Given the description of an element on the screen output the (x, y) to click on. 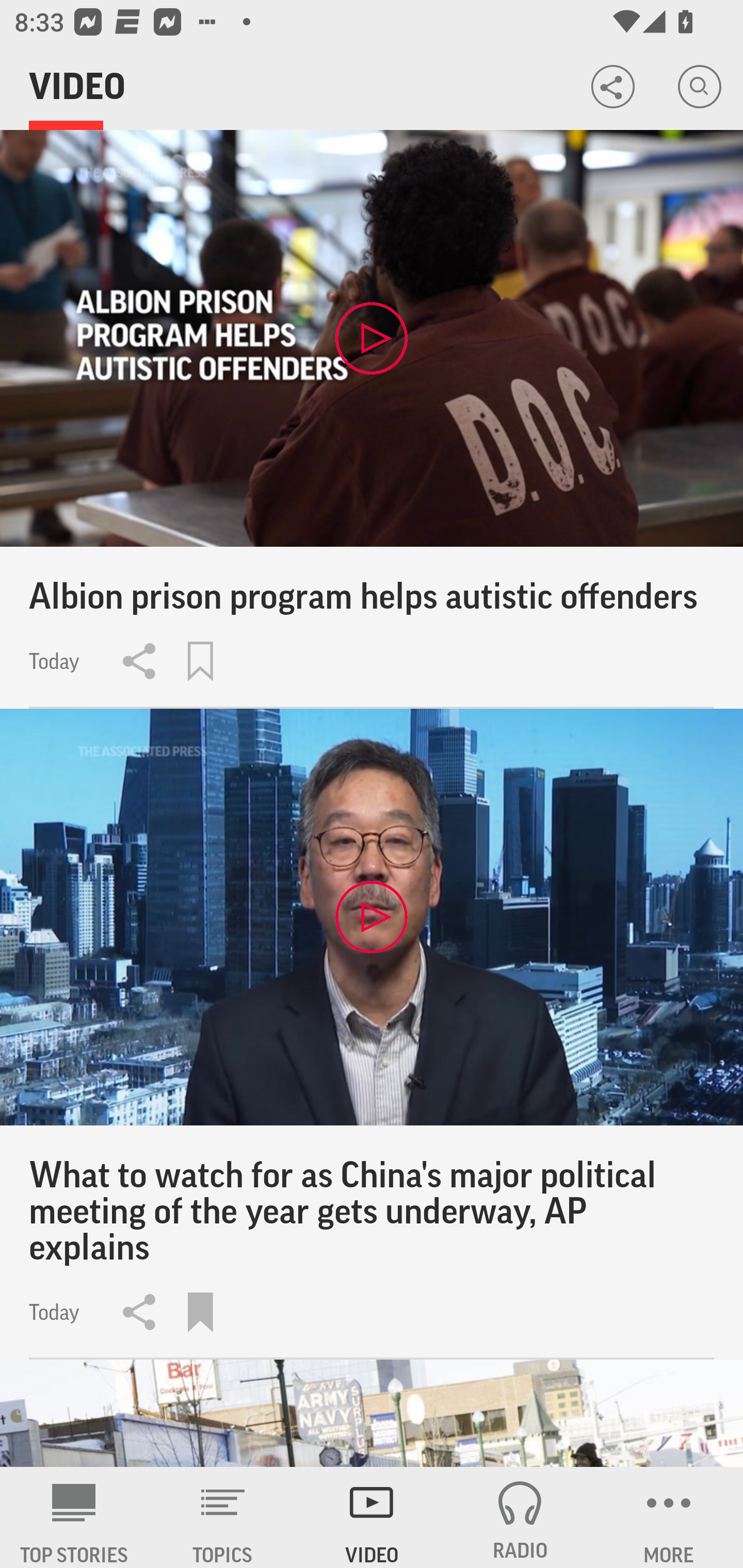
AP News TOP STORIES (74, 1517)
TOPICS (222, 1517)
VIDEO (371, 1517)
RADIO (519, 1517)
MORE (668, 1517)
